Given the description of an element on the screen output the (x, y) to click on. 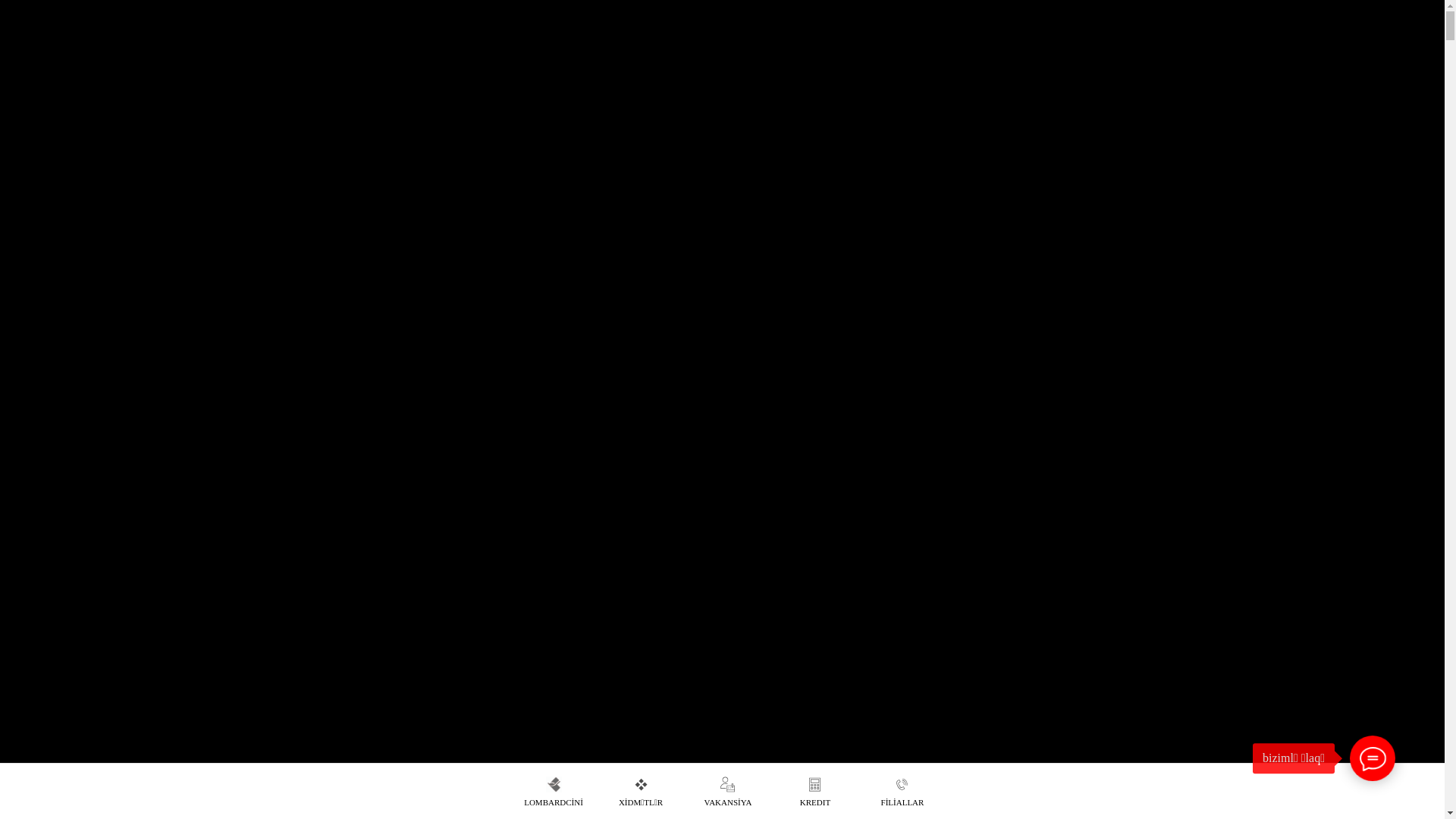
KREDIT Element type: text (815, 791)
